Given the description of an element on the screen output the (x, y) to click on. 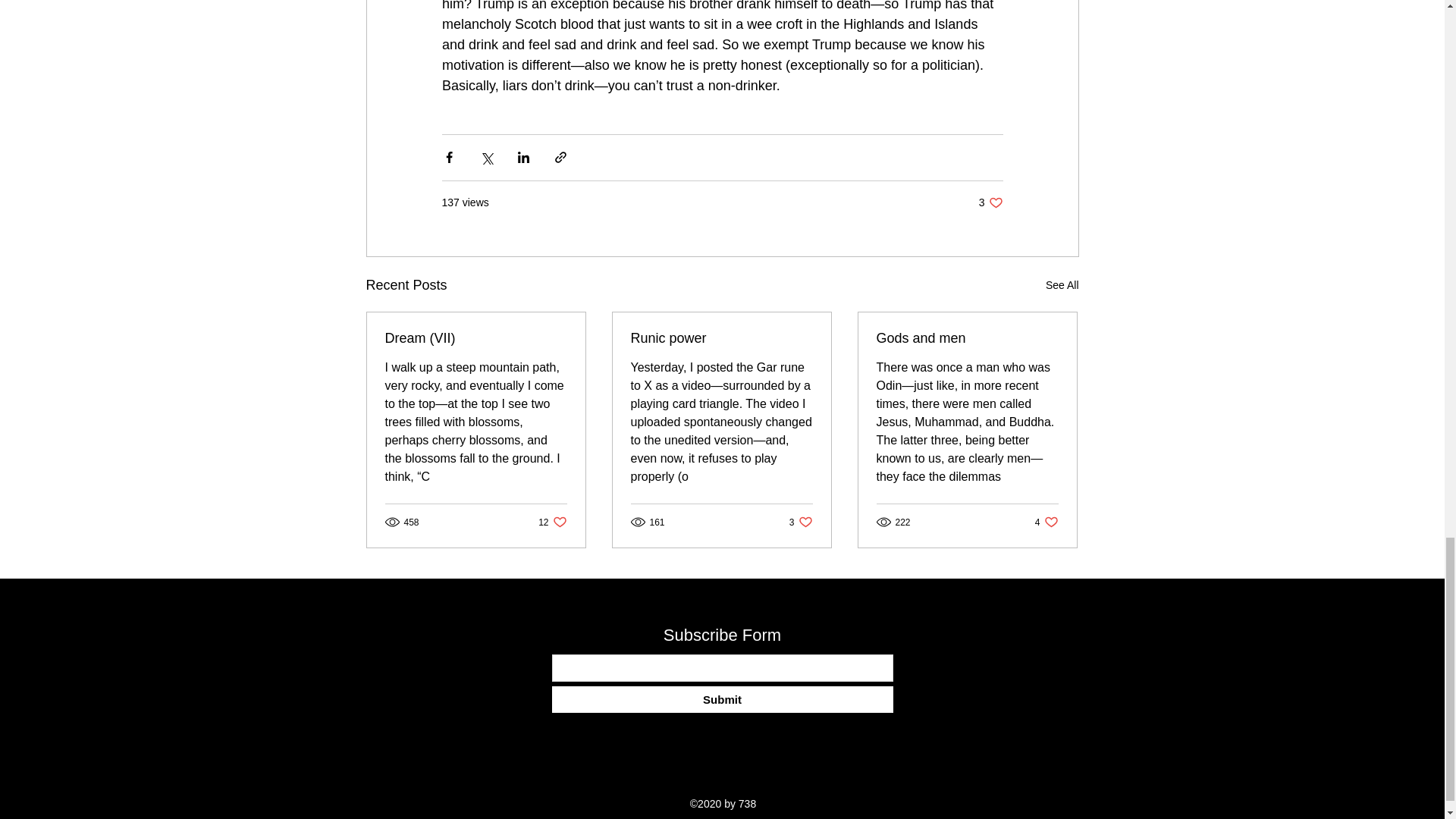
See All (1061, 285)
Gods and men (967, 338)
Runic power (721, 338)
Submit (552, 522)
